Given the description of an element on the screen output the (x, y) to click on. 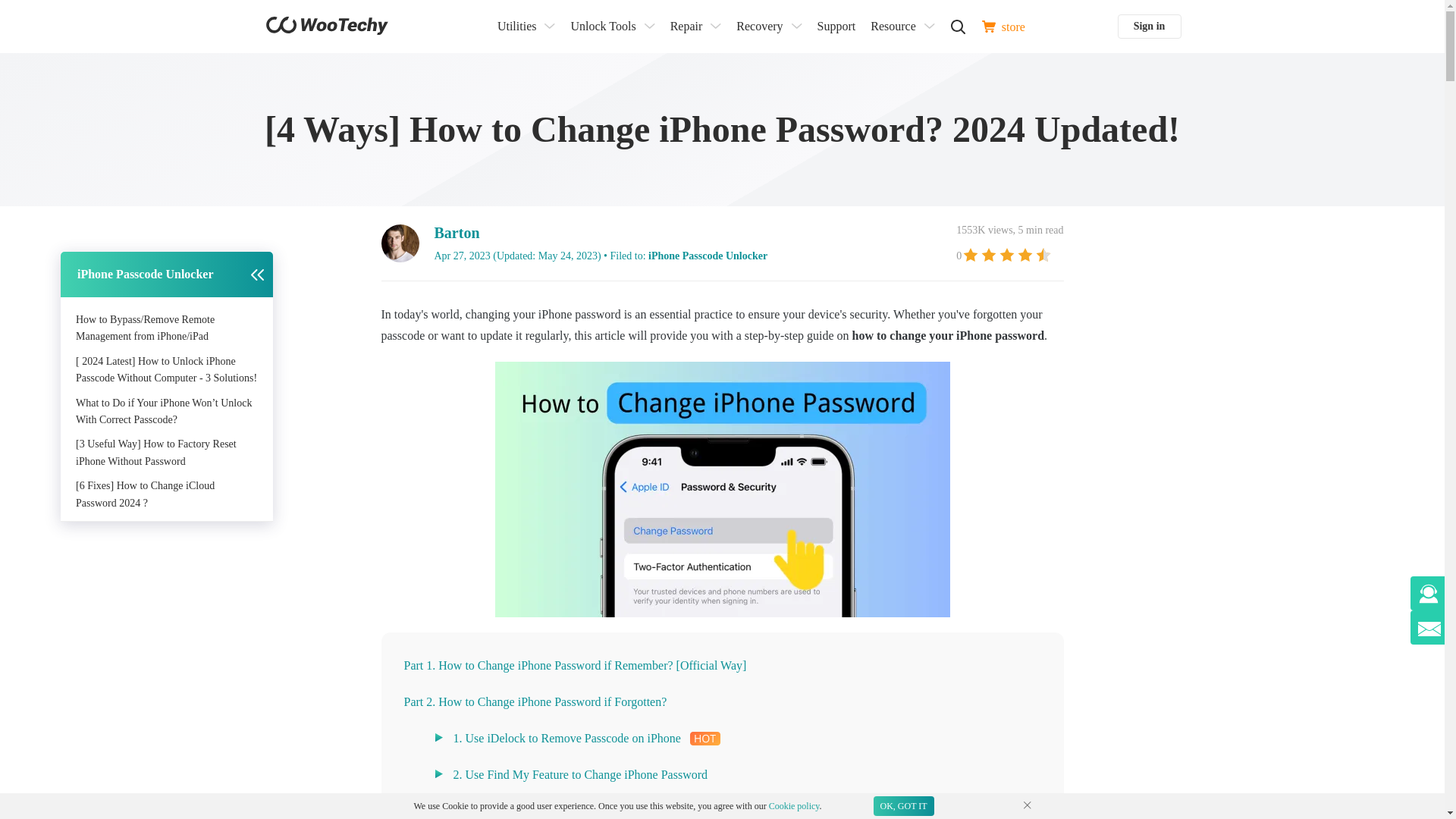
Cookie policy (793, 805)
Part 2. How to Change iPhone Password if Forgotten? (534, 701)
Barton (456, 232)
store (1003, 25)
iPhone Passcode Unlocker (707, 255)
